Given the description of an element on the screen output the (x, y) to click on. 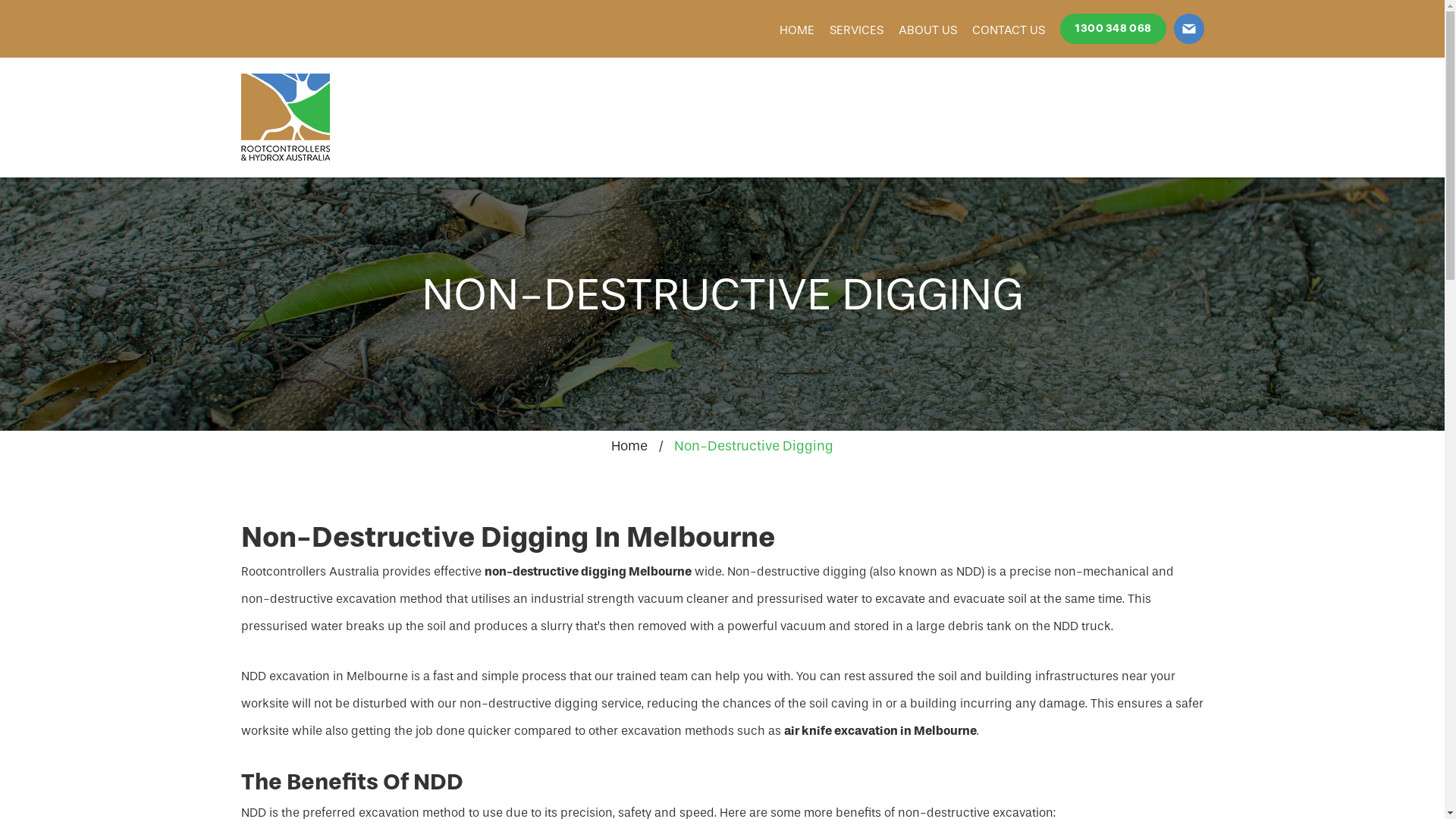
CONTACT US Element type: text (1008, 28)
Home Element type: text (629, 445)
info@hydrox.com.au Element type: hover (1188, 28)
HOME Element type: text (796, 28)
1300 348 068 Element type: text (1113, 28)
ABOUT US Element type: text (926, 28)
Rootcontrollers & Hydrox Australia Element type: hover (285, 117)
SERVICES Element type: text (856, 28)
